Given the description of an element on the screen output the (x, y) to click on. 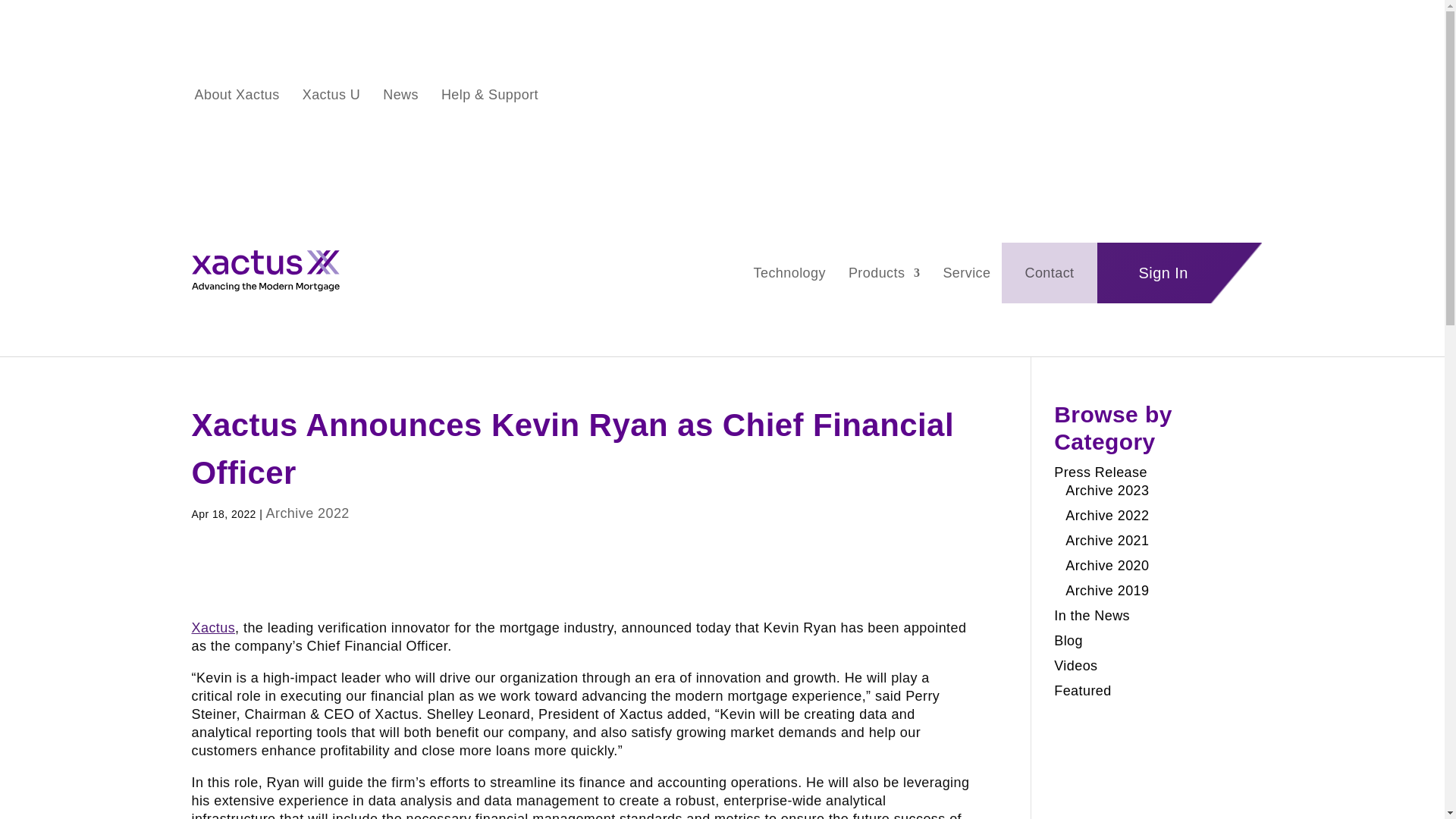
Contact (1049, 273)
About Xactus (236, 97)
Archive 2021 (1106, 540)
Products (884, 275)
Blog (1068, 640)
Xactus (212, 627)
Videos (1075, 665)
Xactus U (330, 97)
Technology (789, 275)
Service (966, 275)
